Given the description of an element on the screen output the (x, y) to click on. 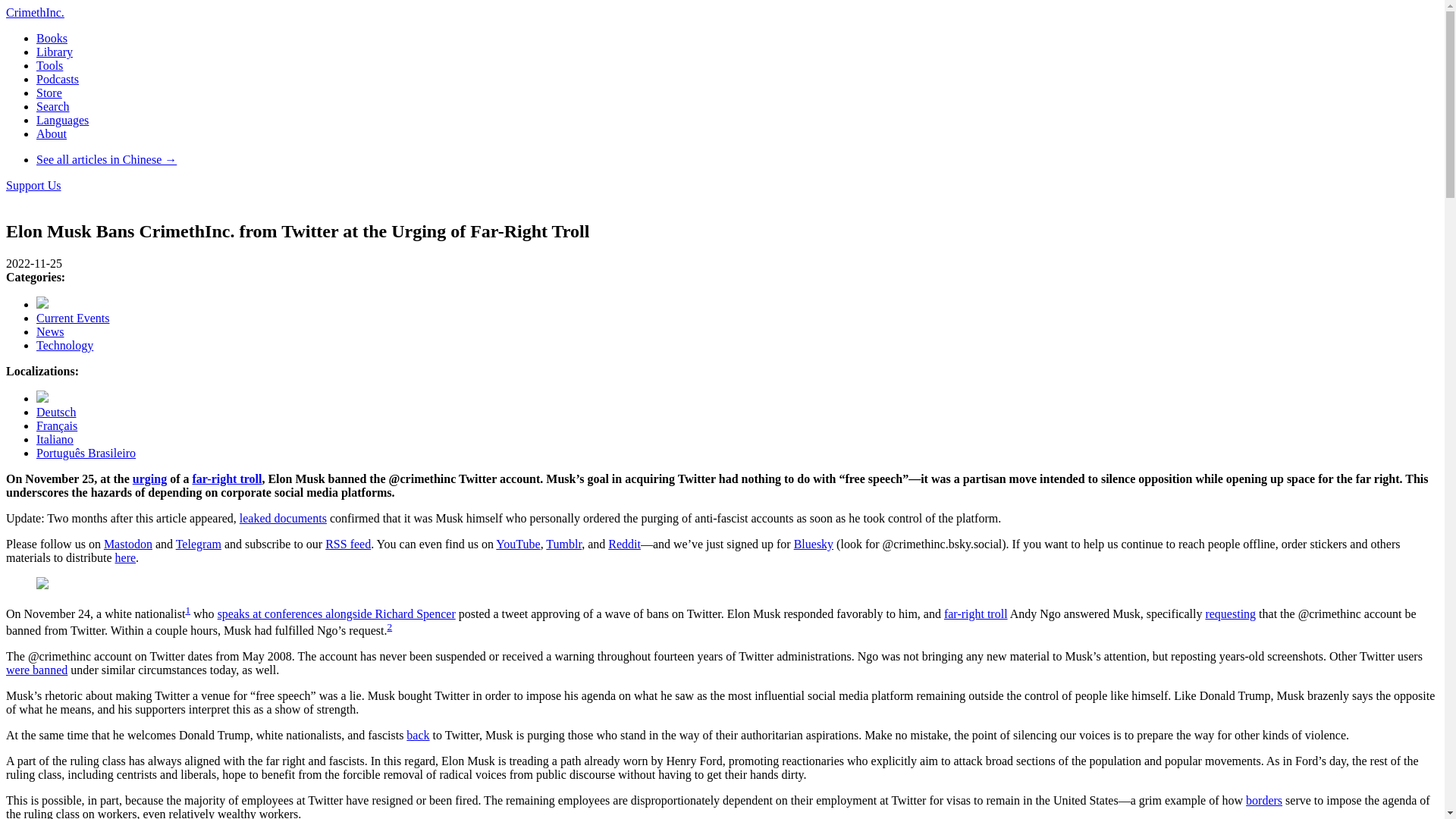
far-right troll (227, 478)
back (417, 735)
Books (51, 38)
were banned (35, 669)
News (50, 331)
far-right troll (975, 613)
2 (389, 626)
Telegram (198, 543)
urging (149, 478)
leaked documents (283, 517)
Library (54, 51)
Search (52, 106)
Mastodon (127, 543)
CrimethInc. (34, 11)
Support Us (33, 185)
